Given the description of an element on the screen output the (x, y) to click on. 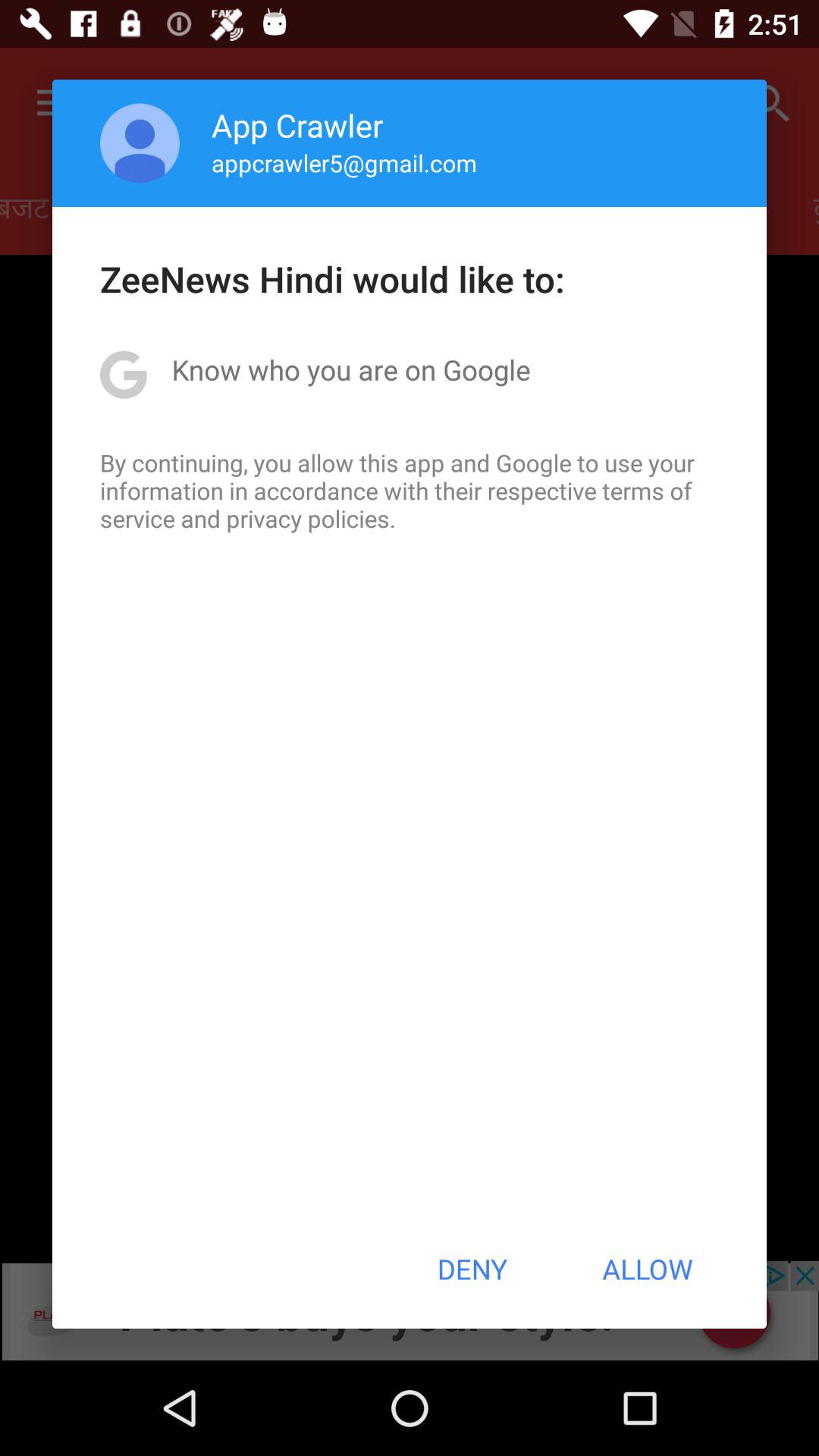
launch icon above zeenews hindi would (139, 143)
